Given the description of an element on the screen output the (x, y) to click on. 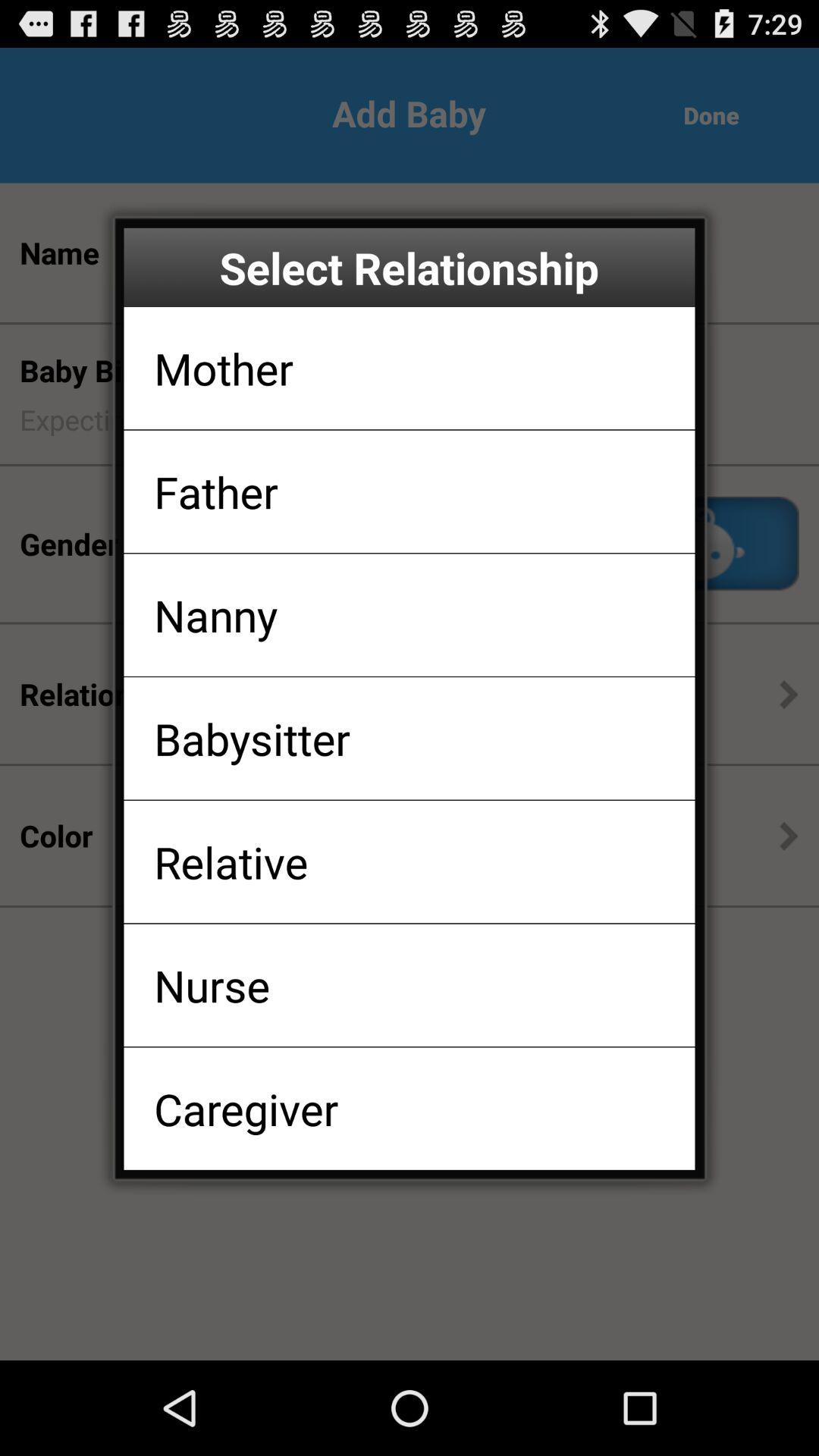
select app above the nurse item (231, 861)
